Given the description of an element on the screen output the (x, y) to click on. 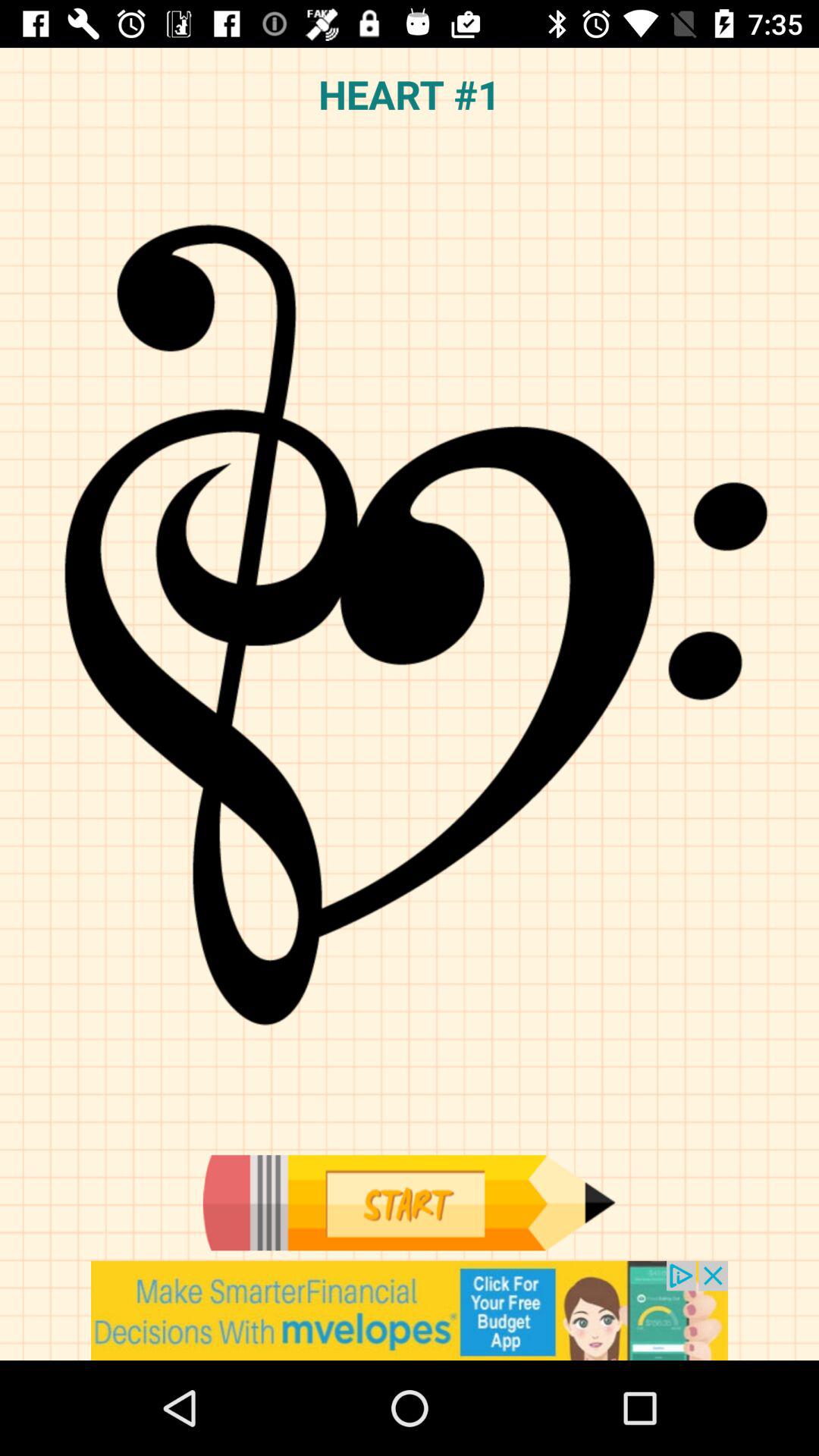
advertisement (409, 1310)
